Given the description of an element on the screen output the (x, y) to click on. 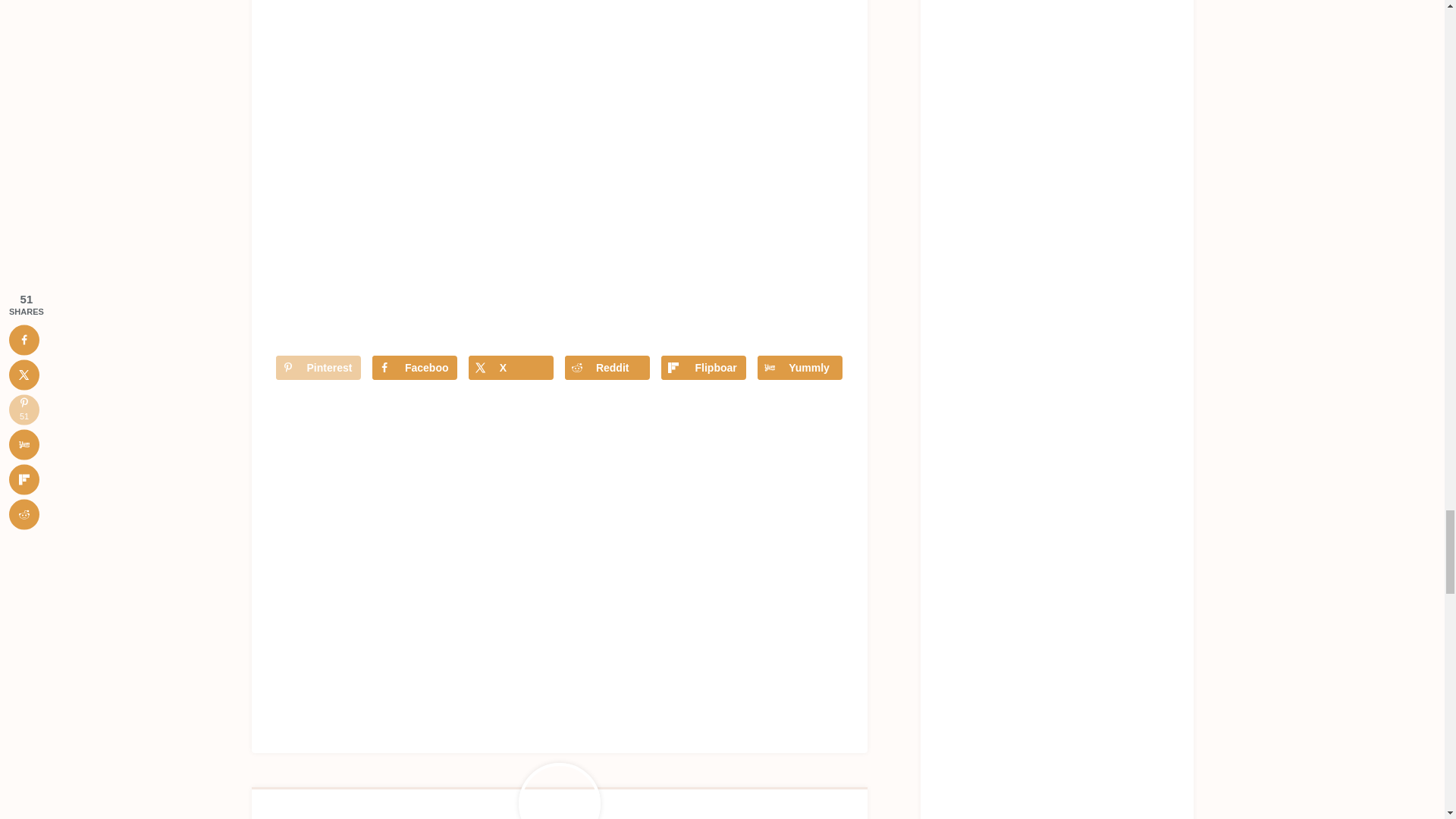
Share on Facebook (414, 367)
Share on X (510, 367)
Share on Yummly (800, 367)
Share on Reddit (606, 367)
Share on Flipboard (703, 367)
Save to Pinterest (318, 367)
